Given the description of an element on the screen output the (x, y) to click on. 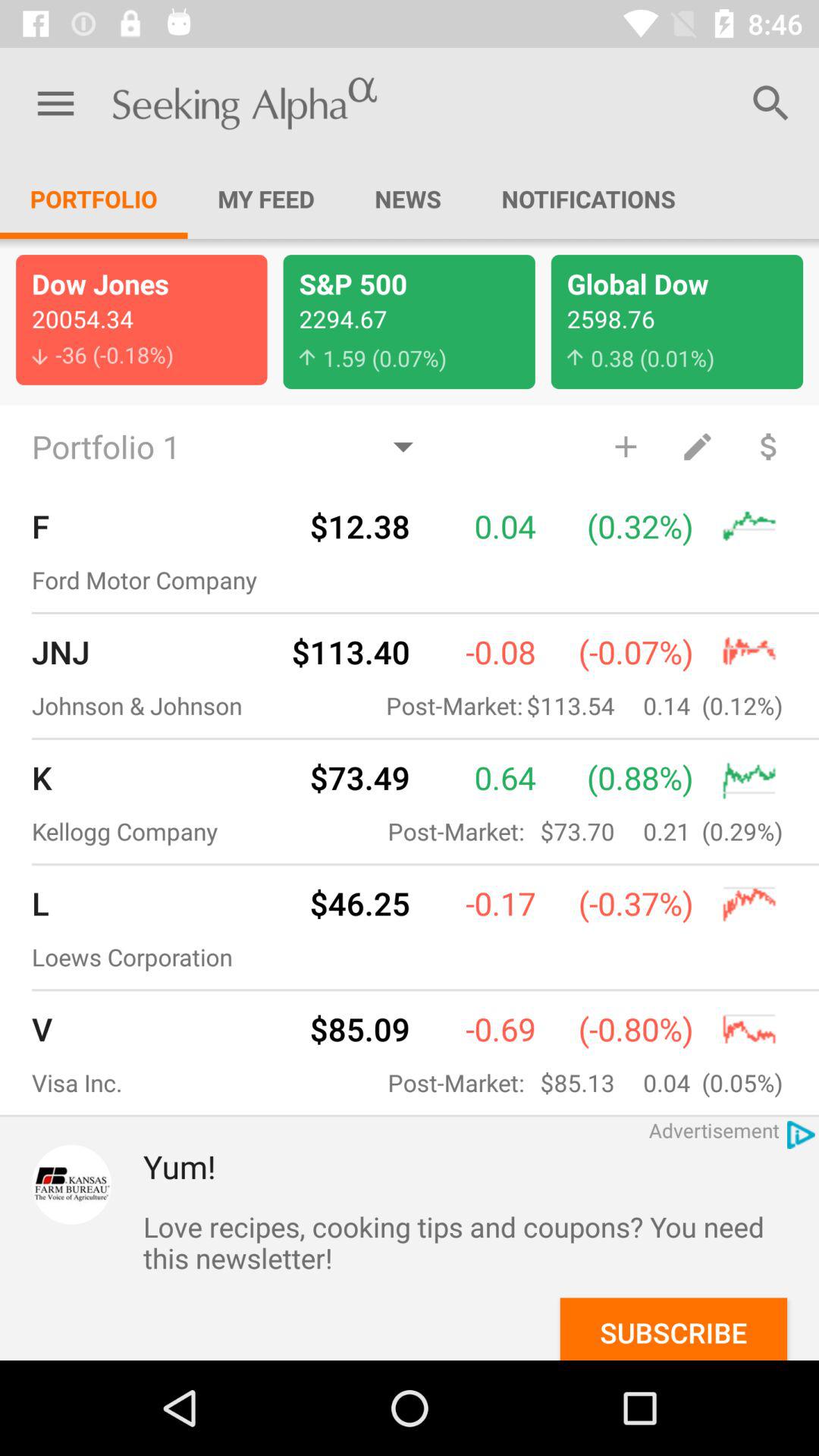
tap the subscribe item (673, 1328)
